Given the description of an element on the screen output the (x, y) to click on. 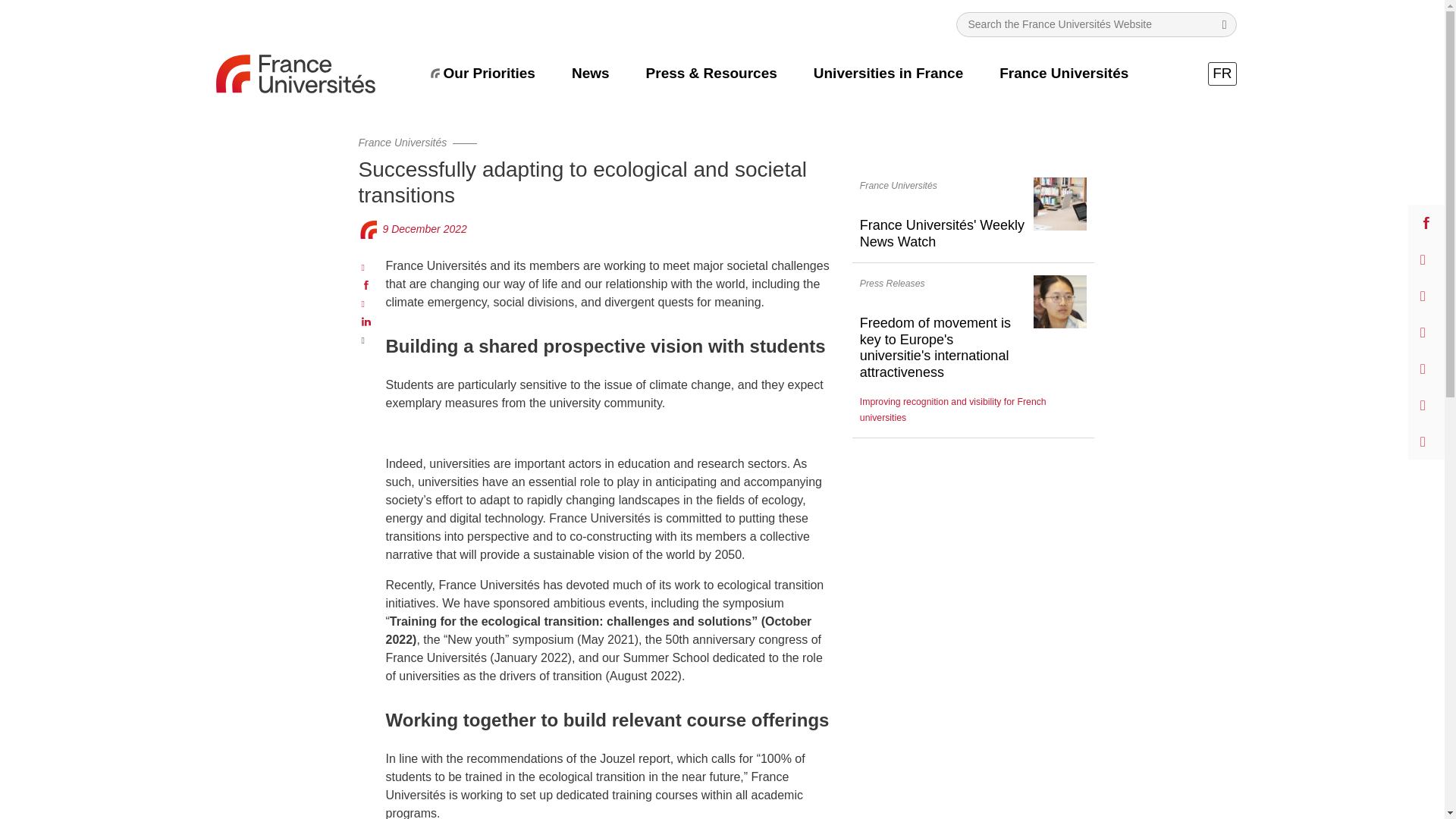
Press Releases (892, 283)
News (590, 73)
Universities in France (888, 73)
FR (1222, 73)
Improving recognition and visibility for French universities (953, 409)
Our Priorities (488, 73)
